Given the description of an element on the screen output the (x, y) to click on. 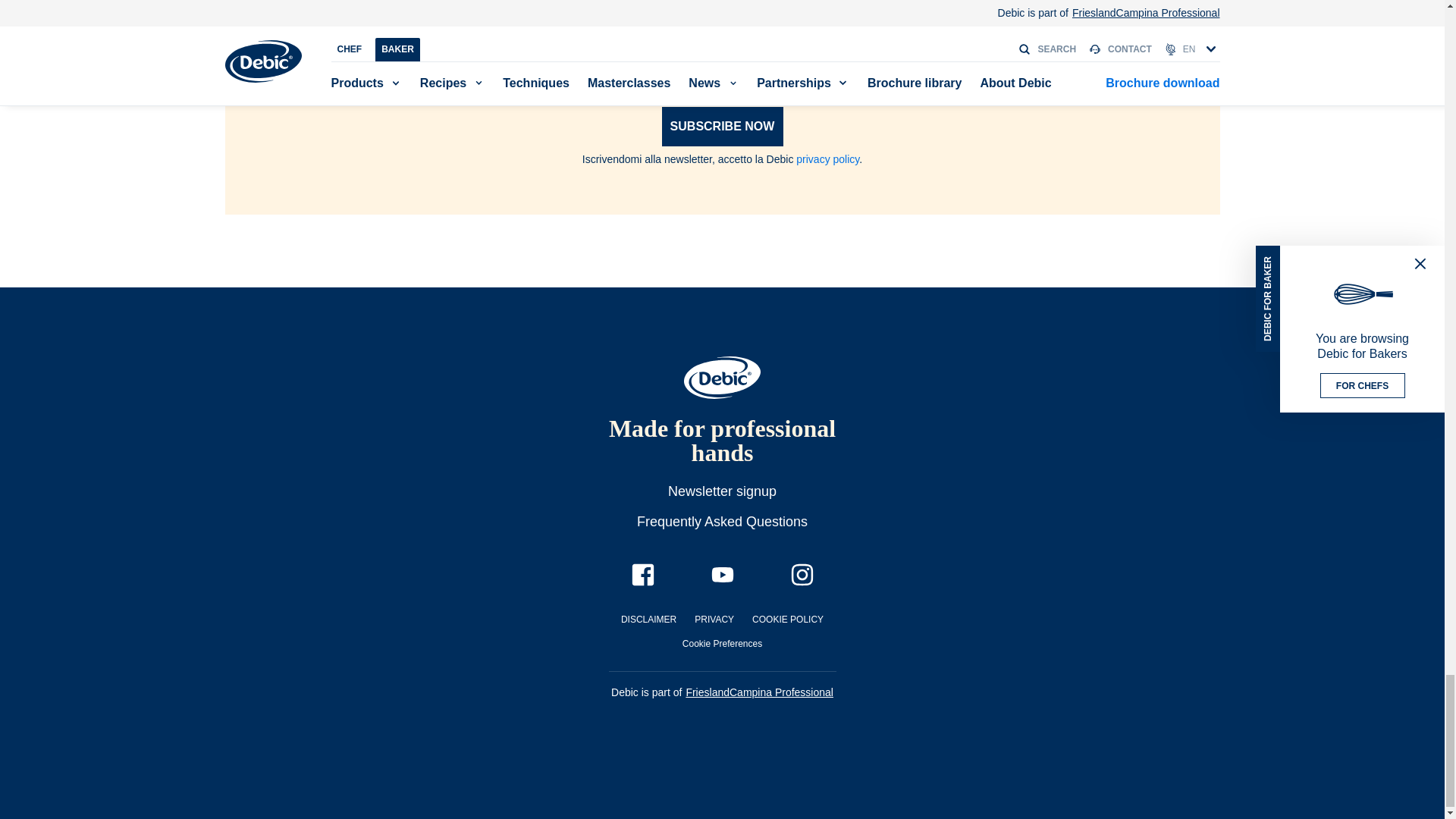
Home (722, 377)
YouTube (722, 574)
Facebook (641, 574)
Instagram (801, 574)
